Given the description of an element on the screen output the (x, y) to click on. 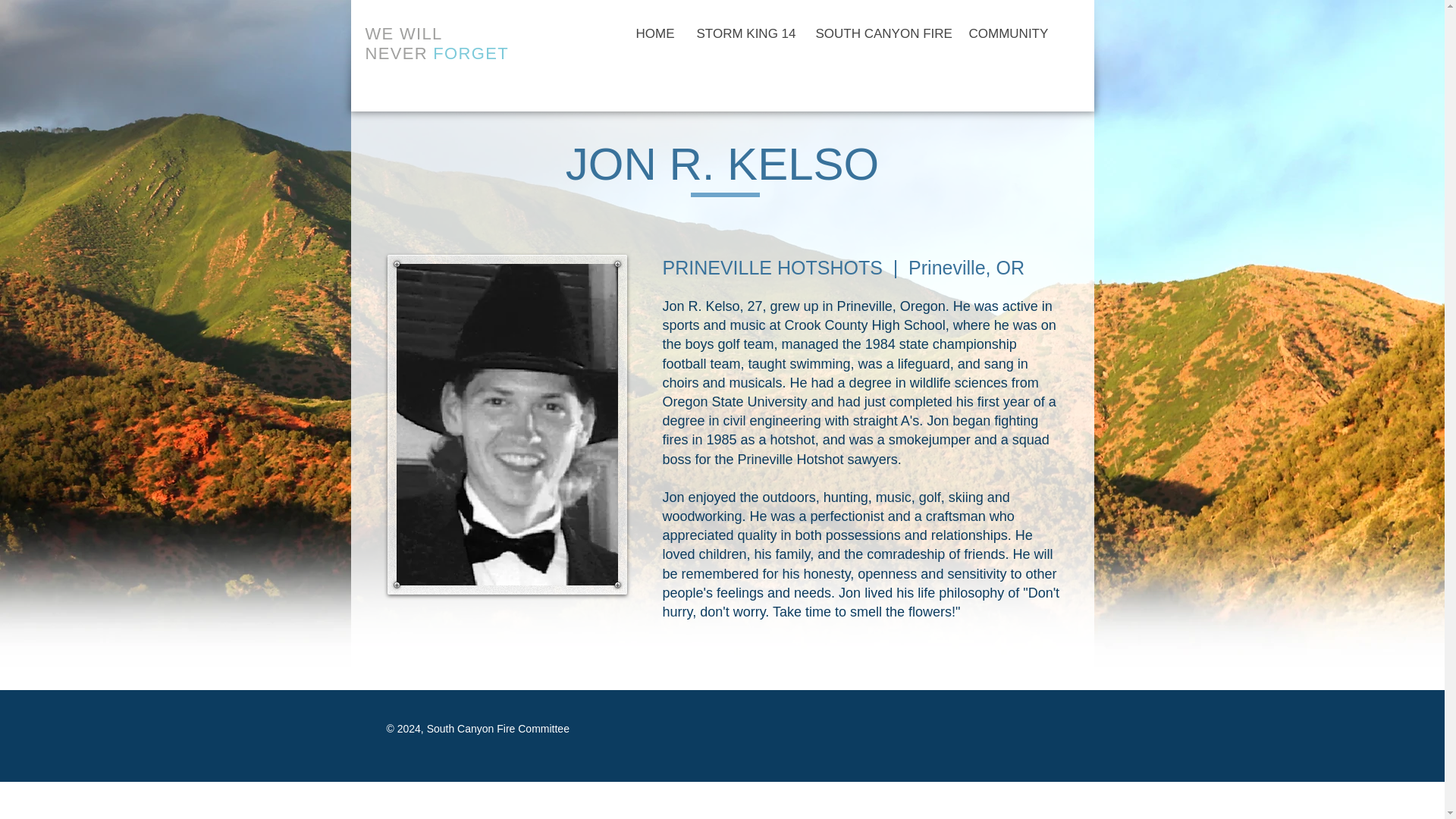
COMMUNITY (1006, 33)
STORM KING 14 (743, 33)
SOUTH CANYON FIRE (879, 33)
WE WILL NEVER FORGET (436, 43)
HOME (653, 33)
